Given the description of an element on the screen output the (x, y) to click on. 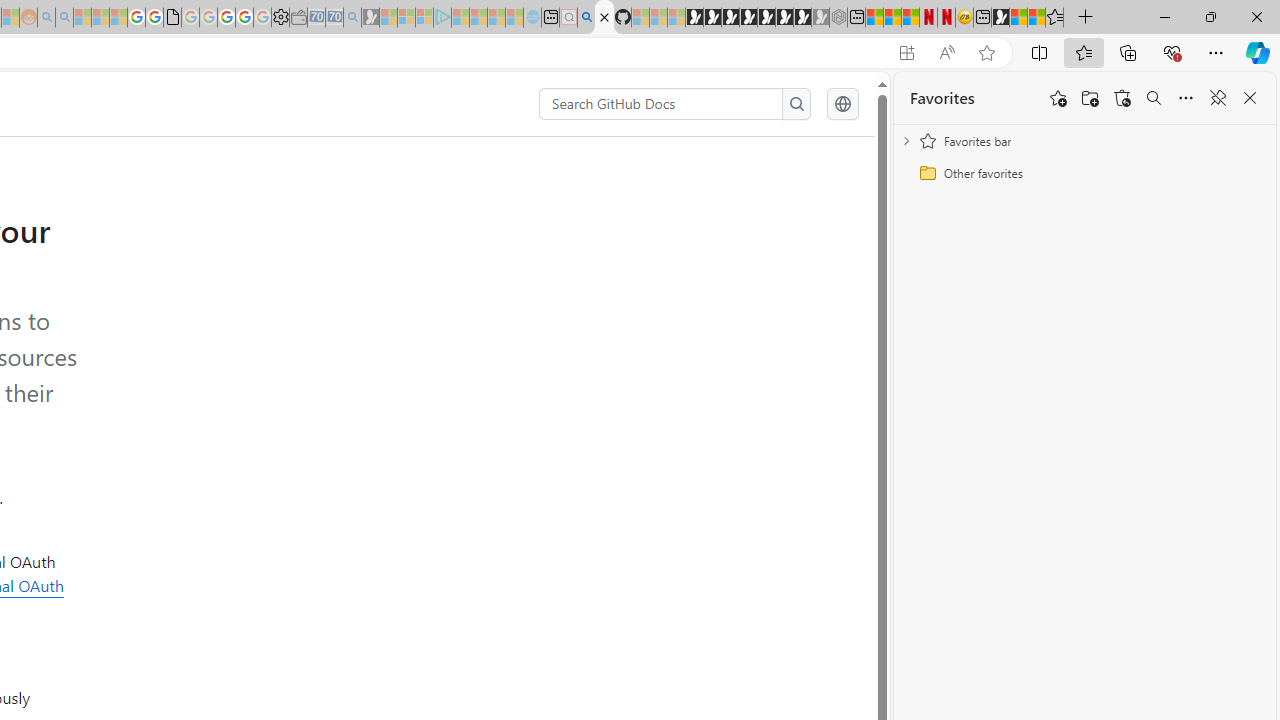
Microsoft Start Gaming - Sleeping (370, 17)
App available. Install GitHub Docs (906, 53)
google_privacy_policy_zh-CN.pdf (171, 17)
